Given the description of an element on the screen output the (x, y) to click on. 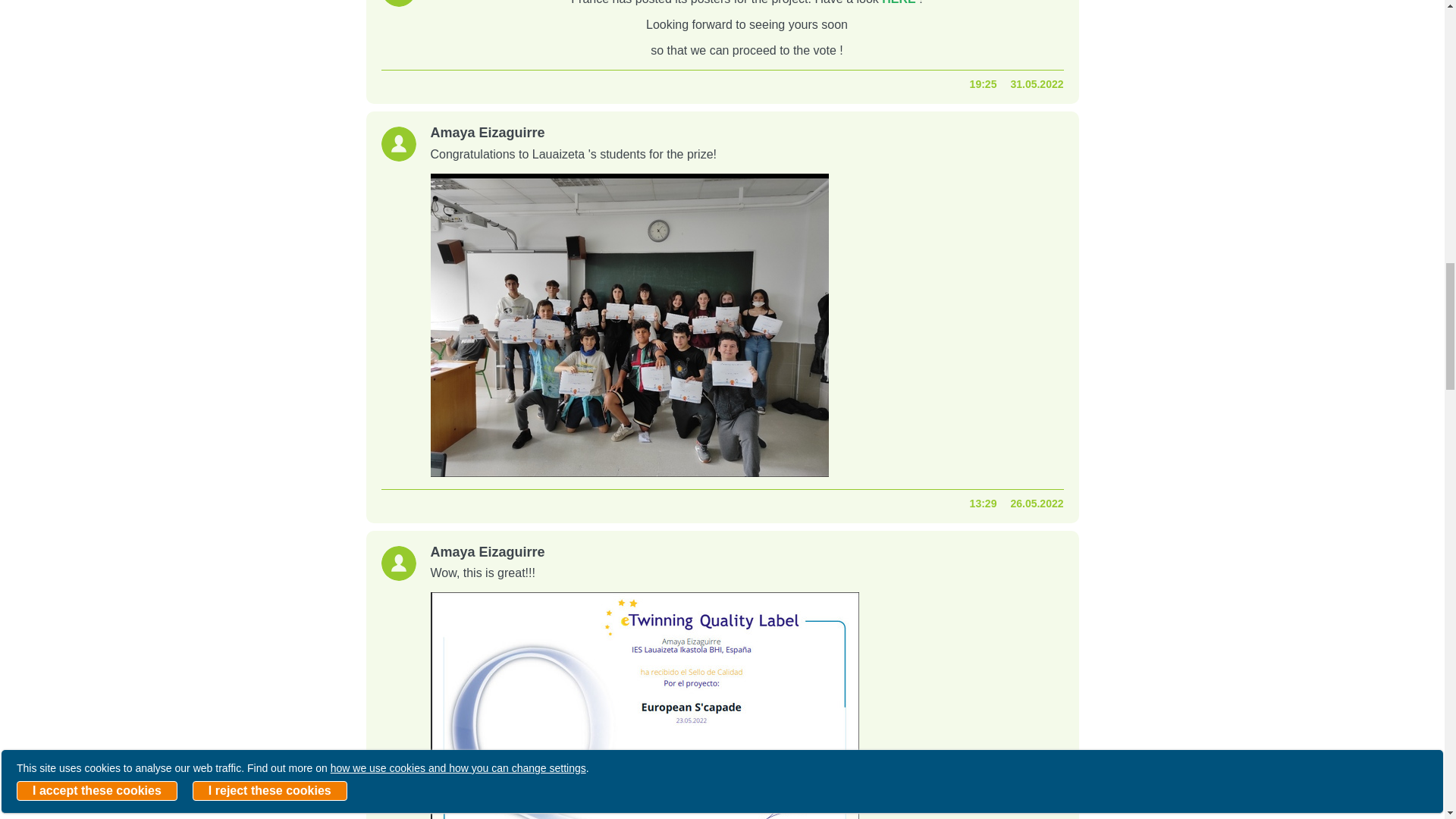
HERE (898, 2)
